Given the description of an element on the screen output the (x, y) to click on. 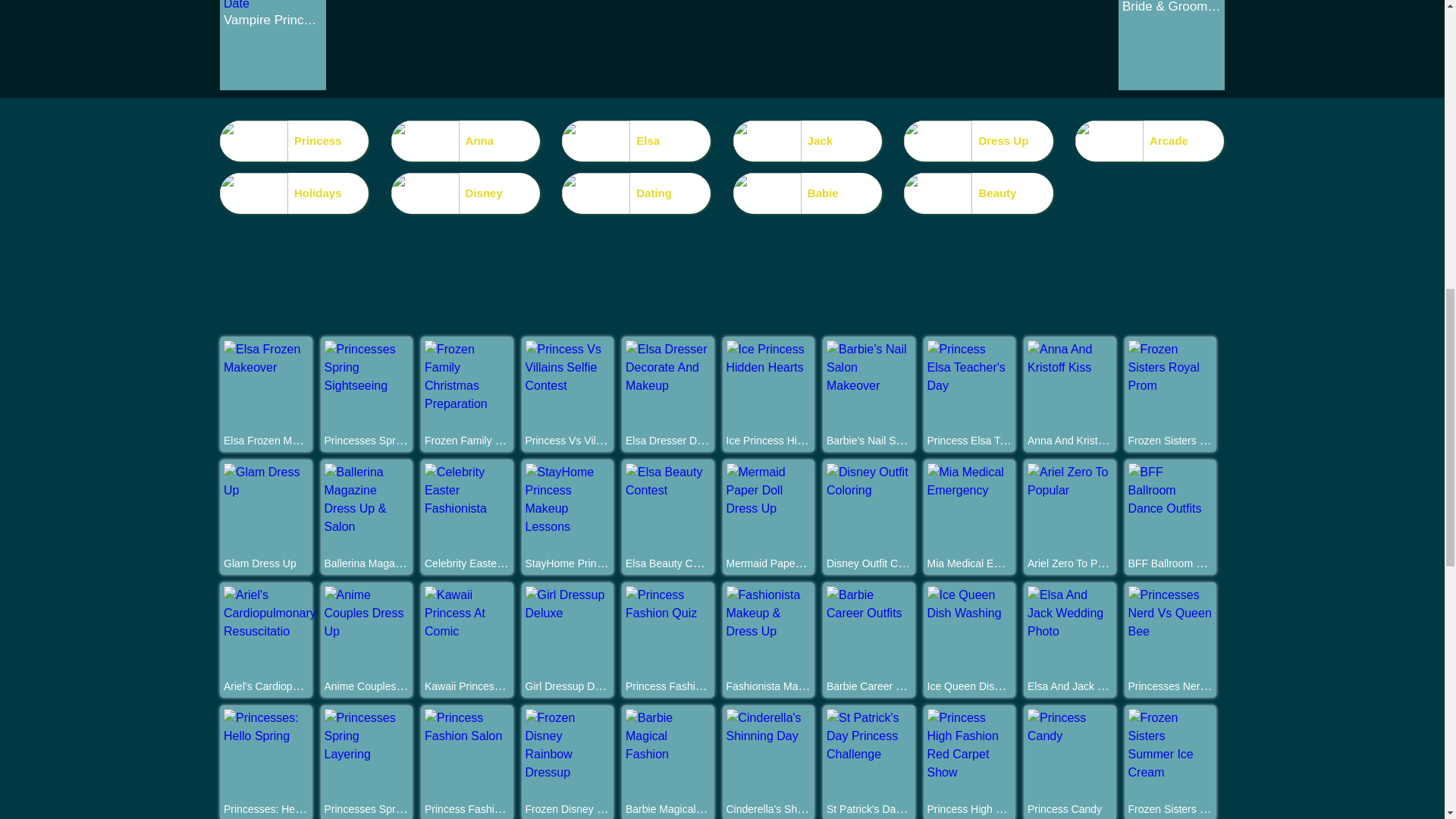
Princess (293, 140)
Arcade (1149, 140)
Jack (807, 140)
Vampire Princess First Date (272, 20)
Elsa (636, 140)
Dress Up (978, 140)
Anna (465, 140)
Vampire Princess First Date (272, 4)
Holidays (293, 192)
Vampire Princess First Date (272, 20)
